Given the description of an element on the screen output the (x, y) to click on. 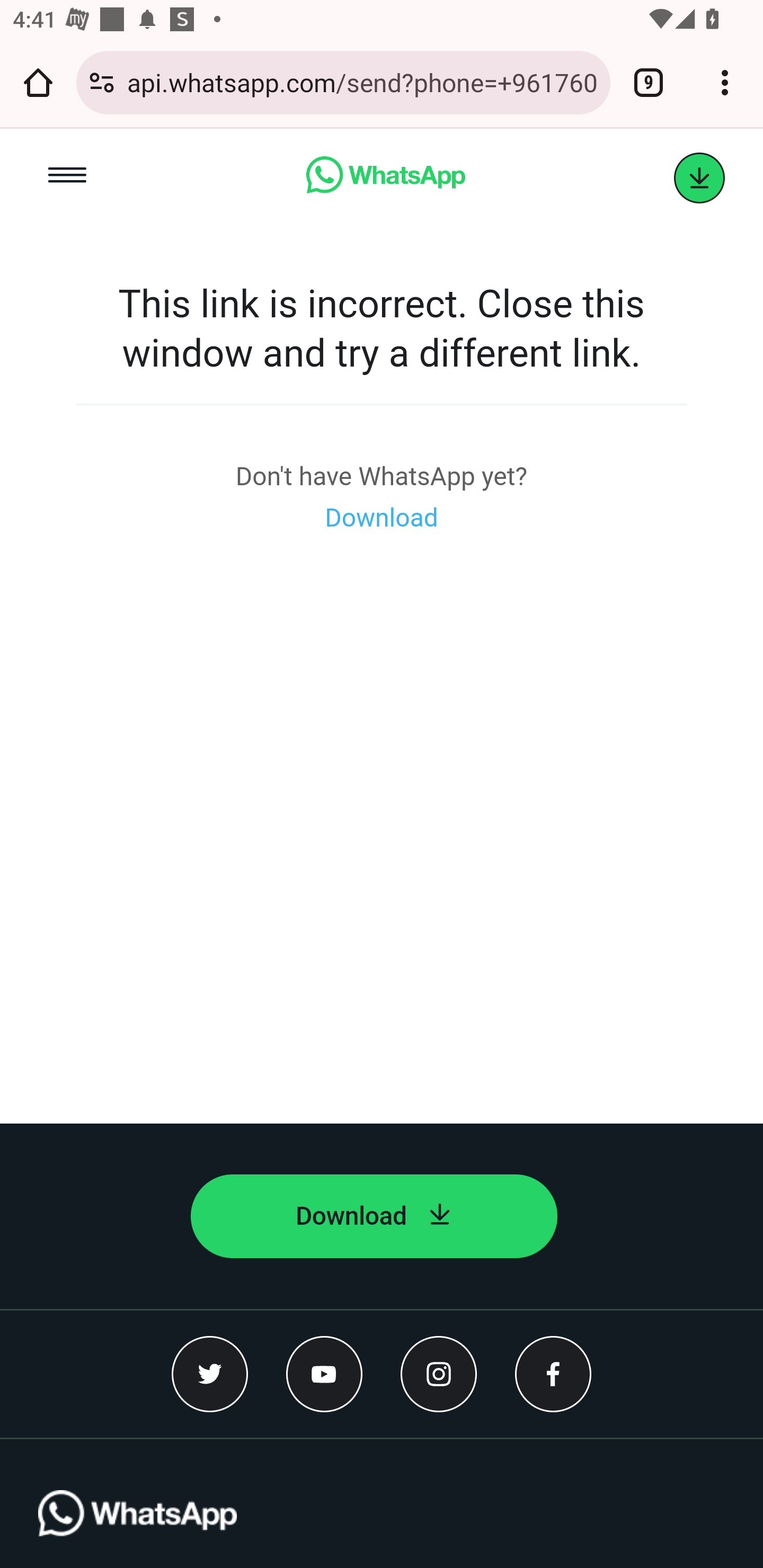
Open the home page (38, 82)
Connection is secure (101, 82)
Switch or close tabs (648, 82)
Customize and control Google Chrome (724, 82)
api.whatsapp.com/send?phone=+96176062040 (362, 82)
Open mobile menu (67, 177)
details?id=com (698, 177)
WhatsApp Main Page (385, 177)
Download Download Download (381, 518)
Download (373, 1216)
Twitter (209, 1373)
Youtube (324, 1373)
Instagram (438, 1373)
Facebook (553, 1373)
WhatsApp Main Logo (137, 1528)
